Given the description of an element on the screen output the (x, y) to click on. 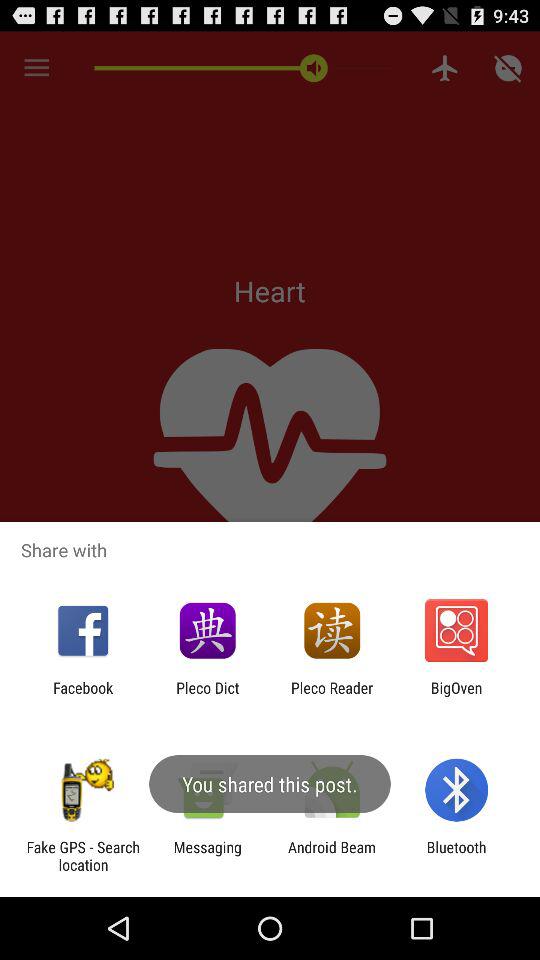
jump to bluetooth app (456, 856)
